Given the description of an element on the screen output the (x, y) to click on. 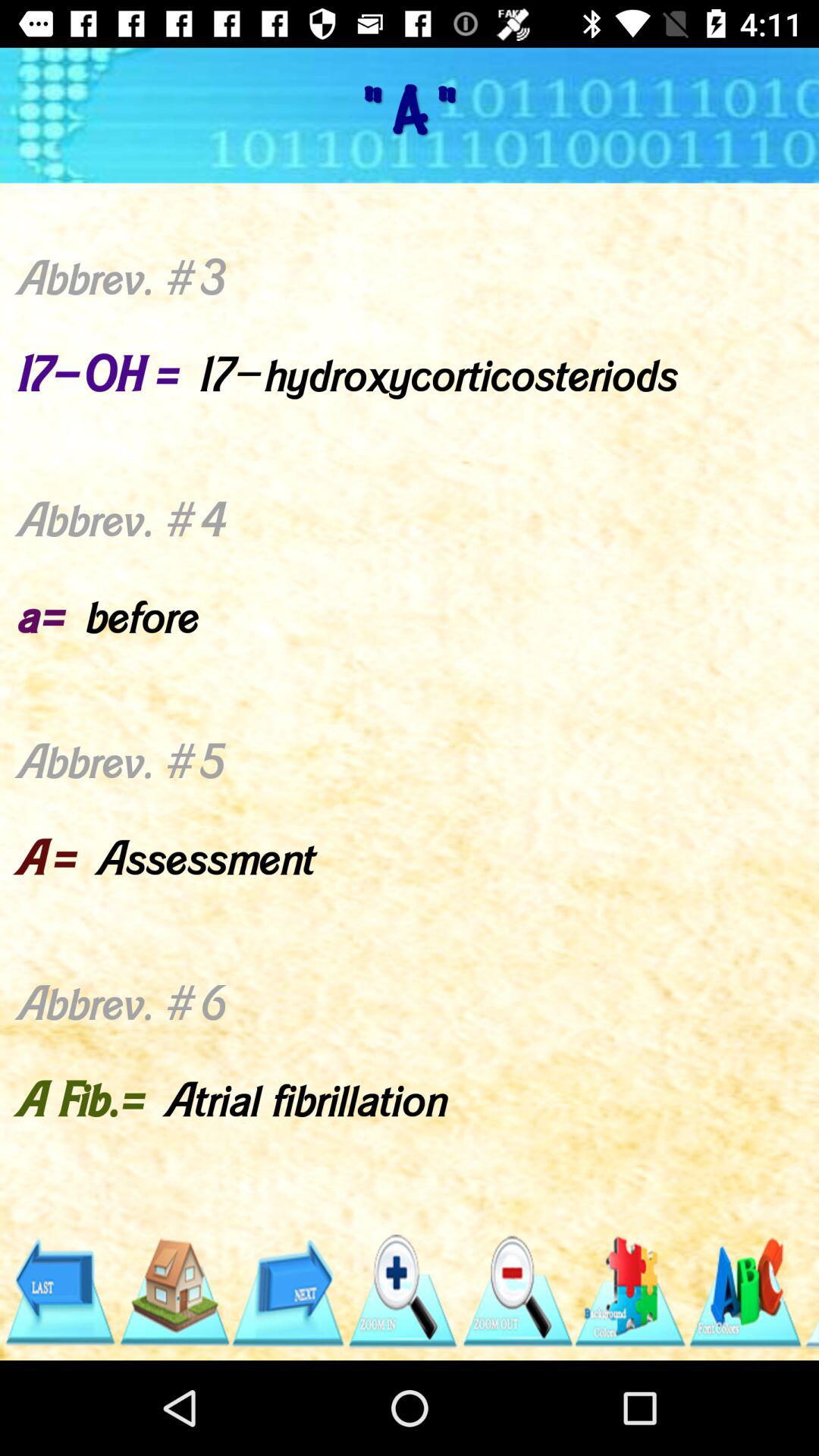
sort alphabetical (745, 1291)
